Given the description of an element on the screen output the (x, y) to click on. 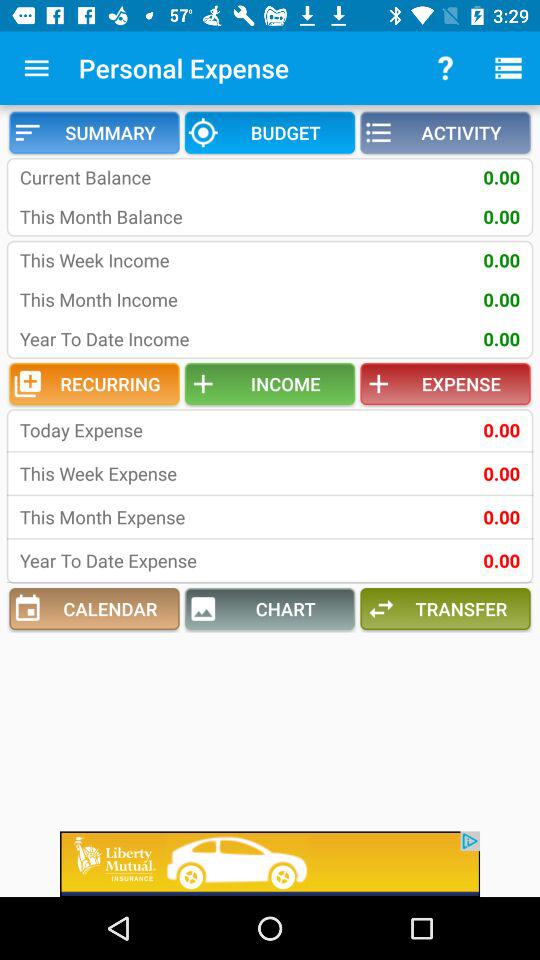
turn on the item next to the personal expense (36, 68)
